Given the description of an element on the screen output the (x, y) to click on. 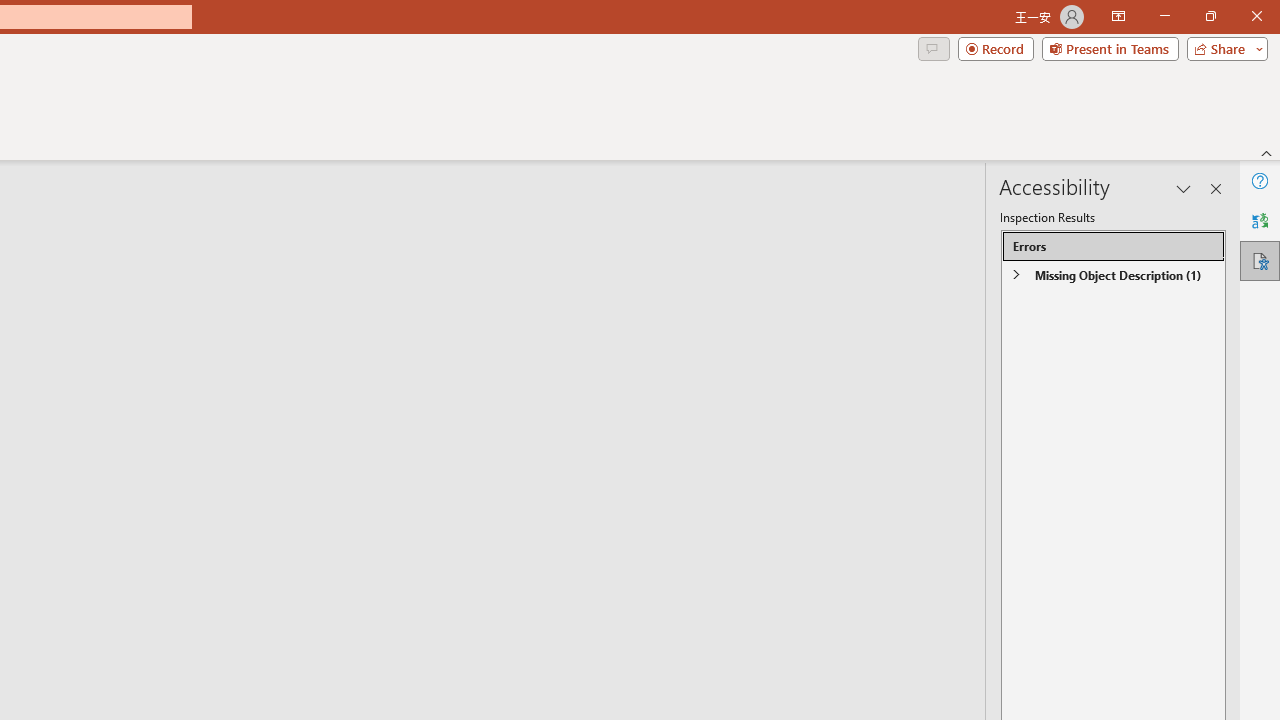
Translator (1260, 220)
